Given the description of an element on the screen output the (x, y) to click on. 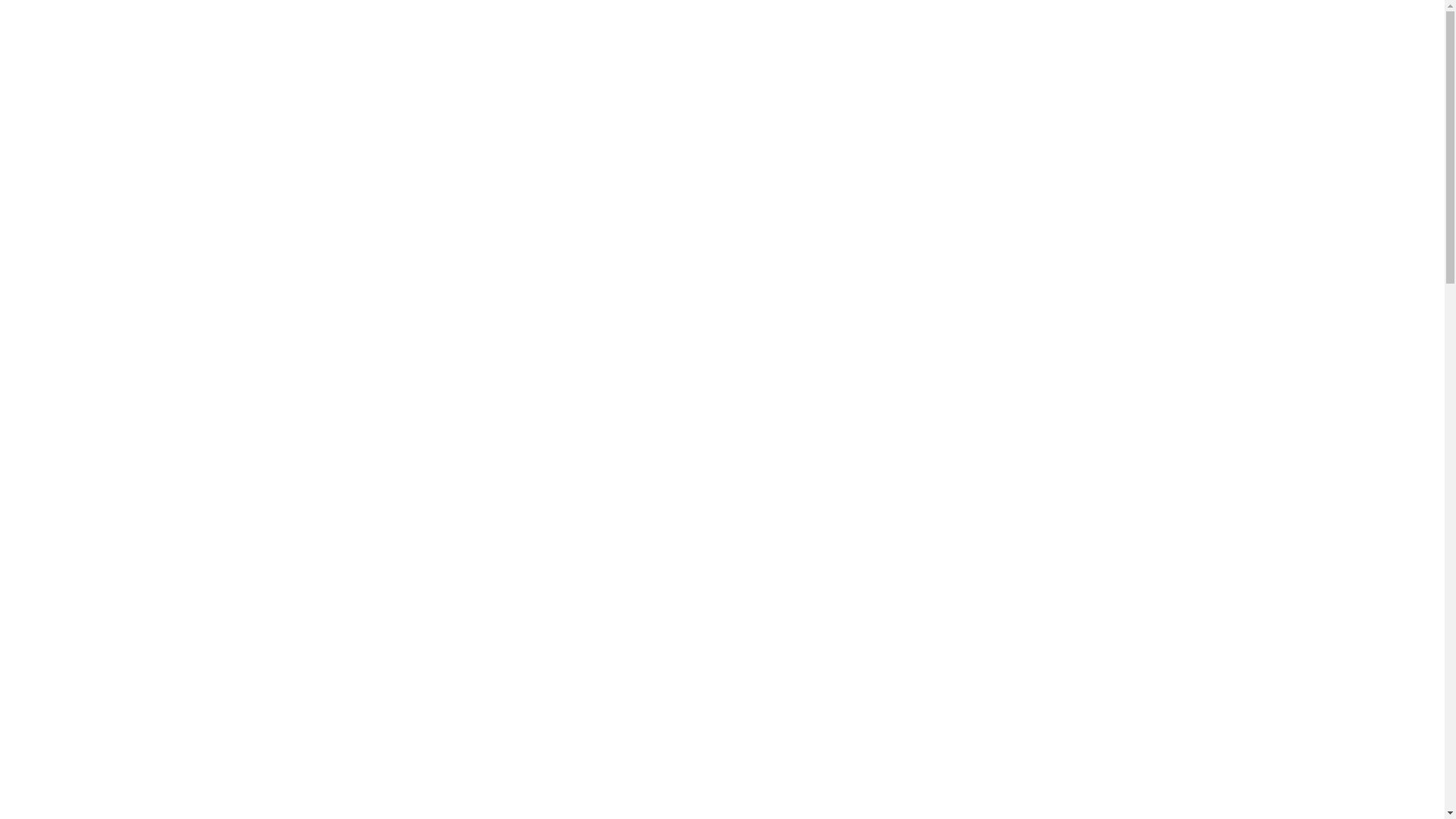
WHAT IS IOT AND HOW CAN IT BENEFIT YOU? Element type: text (1018, 635)
0 Element type: text (344, 635)
SOLUTIONS Element type: text (830, 67)
CONTACT Element type: text (1143, 67)
SERVICES Element type: text (910, 67)
Business Element type: text (949, 302)
UC Element type: text (933, 432)
Voice Analytics Element type: text (968, 465)
0 Element type: text (379, 635)
Technology Element type: text (958, 400)
MESSAGING Element type: text (513, 635)
Free consultation Element type: text (1149, 17)
Messaging Element type: text (956, 367)
1300 428 360 Element type: text (360, 17)
BUSINESS Element type: text (449, 635)
HOME Element type: text (760, 67)
TECHNOLOGY Element type: text (587, 635)
MID YEAR NEWSLETTER JUNE 2018 Element type: text (988, 567)
BLOG Element type: text (1076, 67)
Search Element type: text (1171, 128)
OUR COMPANY Element type: text (998, 67)
IoT Element type: text (934, 335)
